Given the description of an element on the screen output the (x, y) to click on. 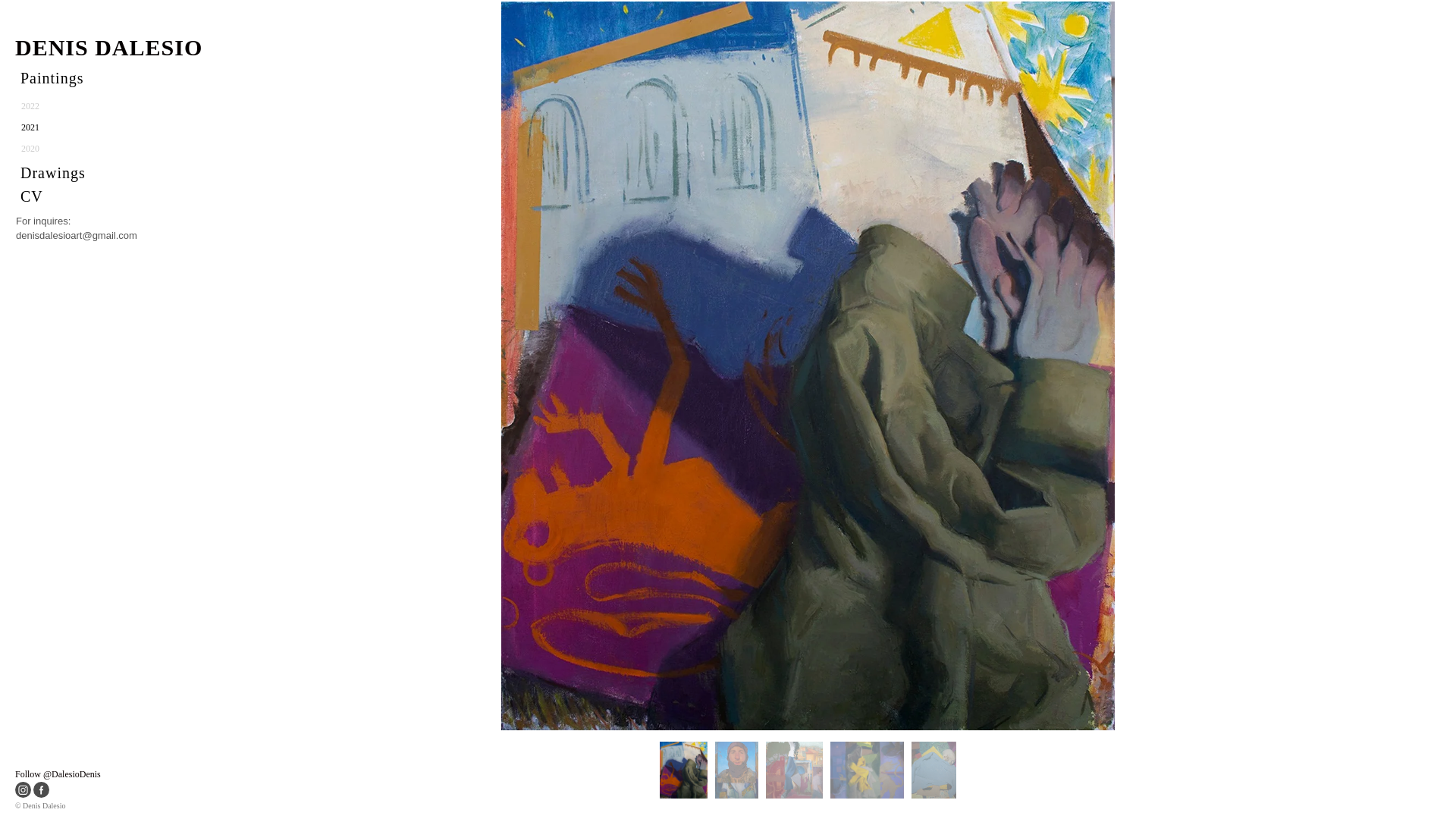
Drawings Element type: text (76, 172)
Afternoon Commute - Denis Dalesio Element type: hover (736, 769)
2022 Element type: text (76, 105)
Stumble, Call Out, Listen - Denis Dalesio Element type: hover (683, 769)
2021 Element type: text (76, 127)
DENIS DALESIO Element type: text (166, 47)
denisdalesioart@gmail.com Element type: text (76, 235)
Follow @DalesioDenis Element type: text (57, 773)
CV Element type: text (76, 196)
We all fall down - Denis Dalesio Element type: hover (934, 769)
Right Here - Denis Dalesio Element type: hover (866, 769)
That Roma Magic - Denis Dalesio Element type: hover (793, 769)
2020 Element type: text (76, 148)
Paintings Element type: text (76, 77)
